Given the description of an element on the screen output the (x, y) to click on. 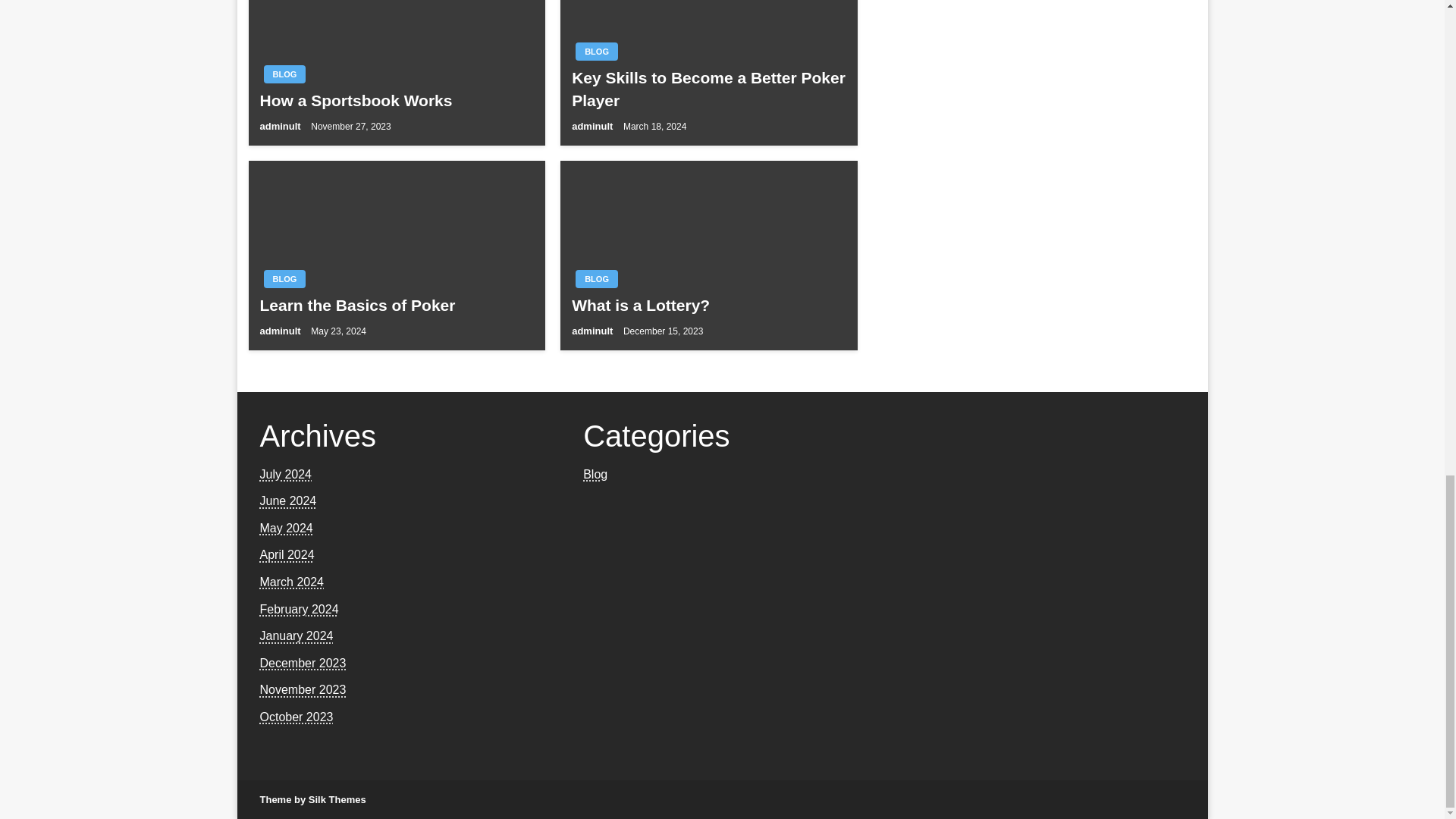
adminult (593, 125)
Learn the Basics of Poker (396, 305)
BLOG (596, 279)
BLOG (284, 74)
adminult (280, 125)
July 2024 (285, 473)
BLOG (284, 279)
adminult (593, 330)
How a Sportsbook Works (396, 100)
Key Skills to Become a Better Poker Player (708, 88)
